Given the description of an element on the screen output the (x, y) to click on. 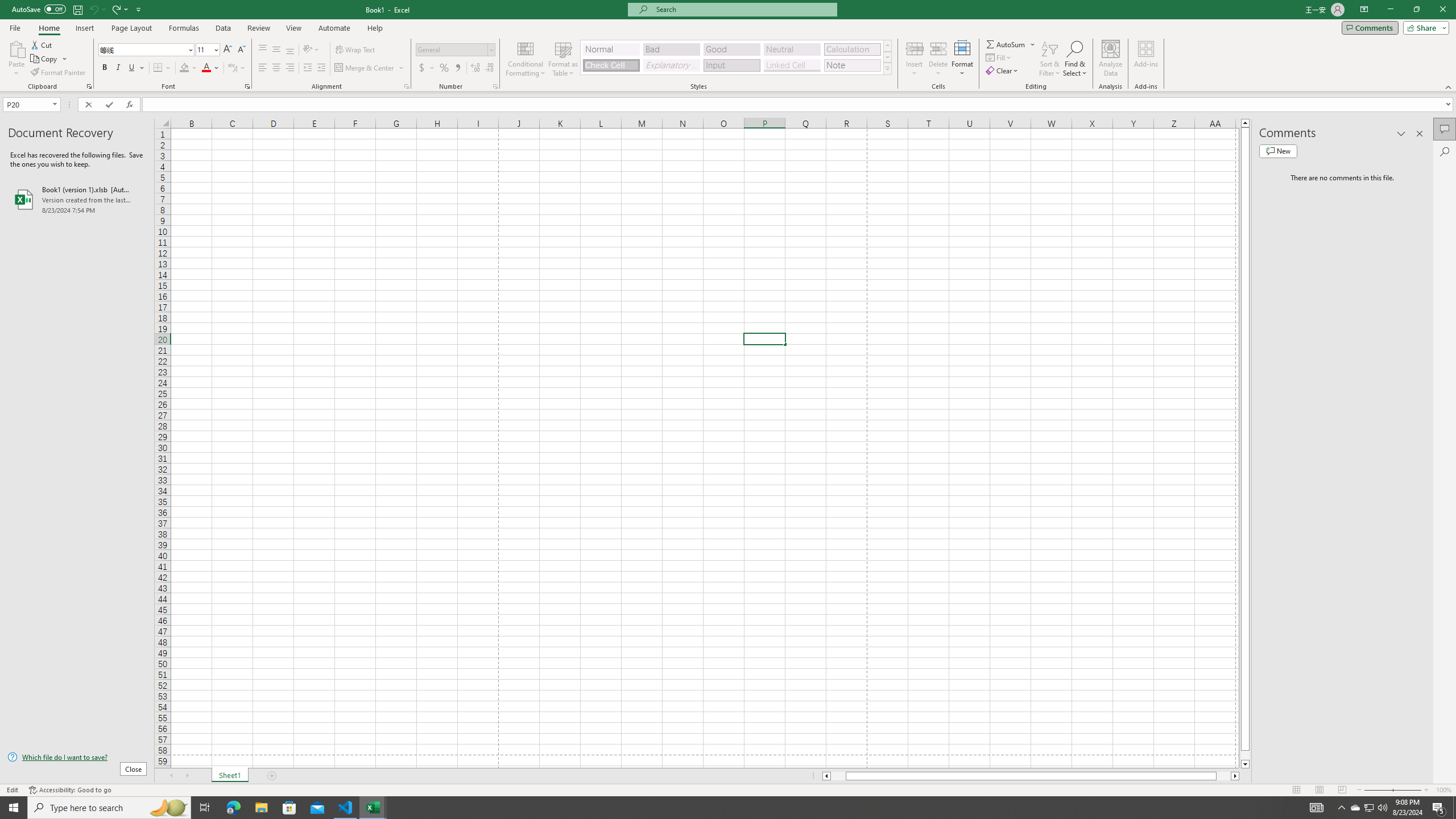
Accounting Number Format (426, 67)
Font Size (204, 49)
Bottom Border (157, 67)
Decrease Decimal (489, 67)
Note (852, 65)
Delete Cells... (938, 48)
Center (276, 67)
Increase Indent (320, 67)
Conditional Formatting (525, 58)
